Given the description of an element on the screen output the (x, y) to click on. 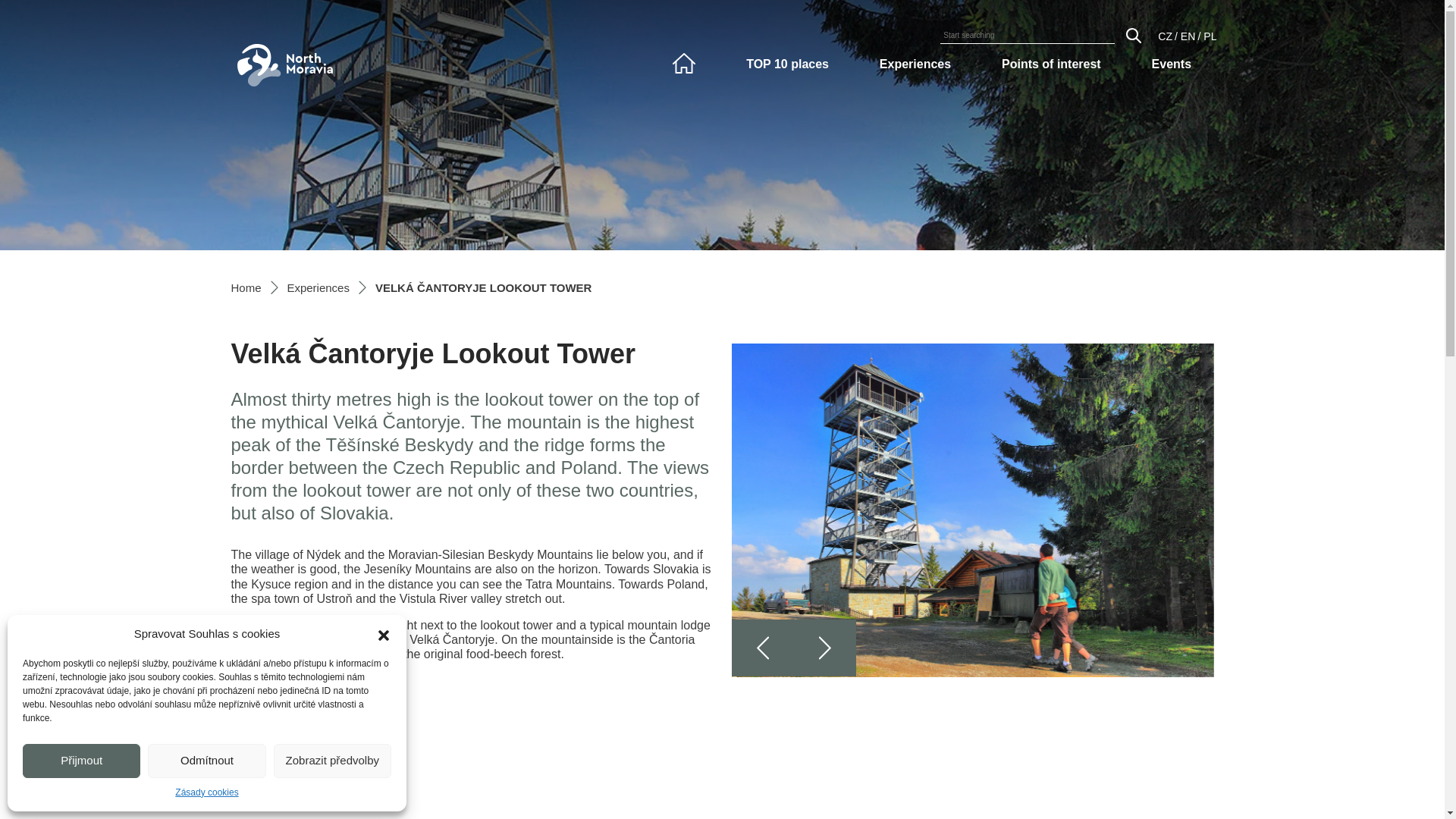
Experiences (914, 63)
Events (1172, 63)
Home (245, 287)
TOP 10 places (787, 63)
Points of interest (1051, 63)
EN (1187, 36)
Experiences (317, 287)
Search (1133, 35)
PL (1209, 36)
CZ (1164, 36)
